Given the description of an element on the screen output the (x, y) to click on. 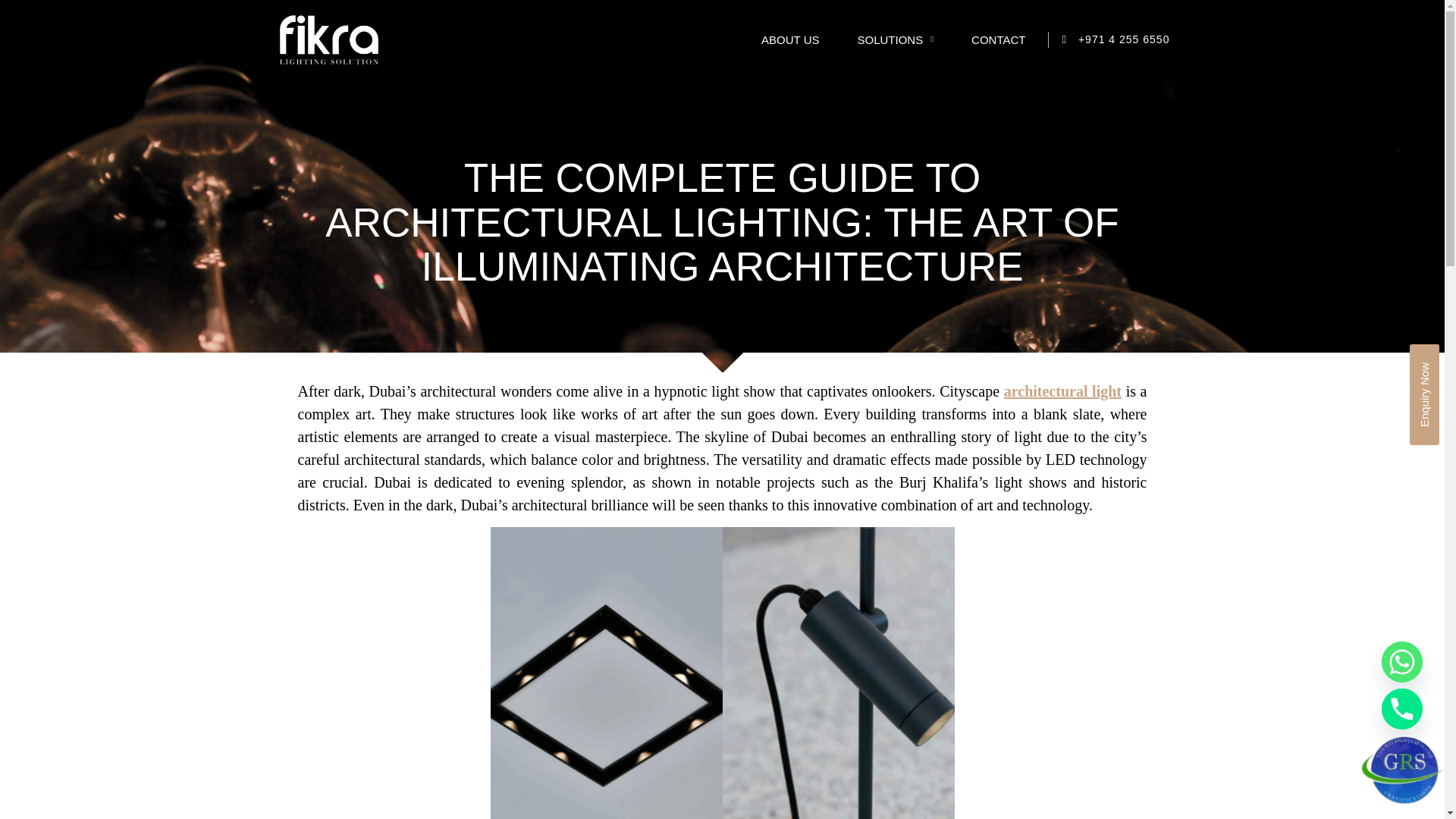
SOLUTIONS (895, 39)
CONTACT (998, 39)
ABOUT US (789, 39)
